Given the description of an element on the screen output the (x, y) to click on. 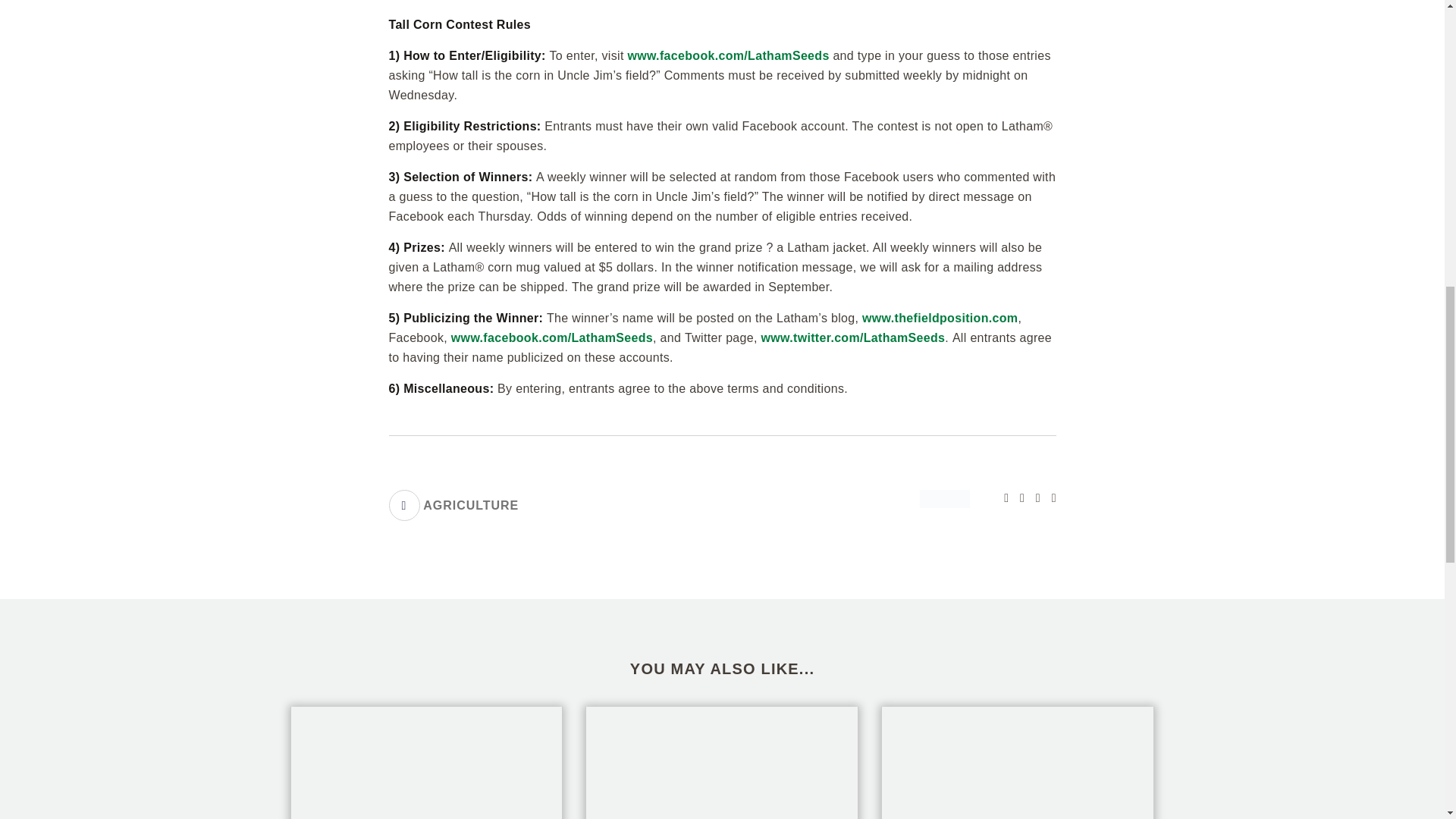
RSS Feed (1049, 497)
www.thefieldposition.com (939, 318)
AGRICULTURE (453, 504)
